Given the description of an element on the screen output the (x, y) to click on. 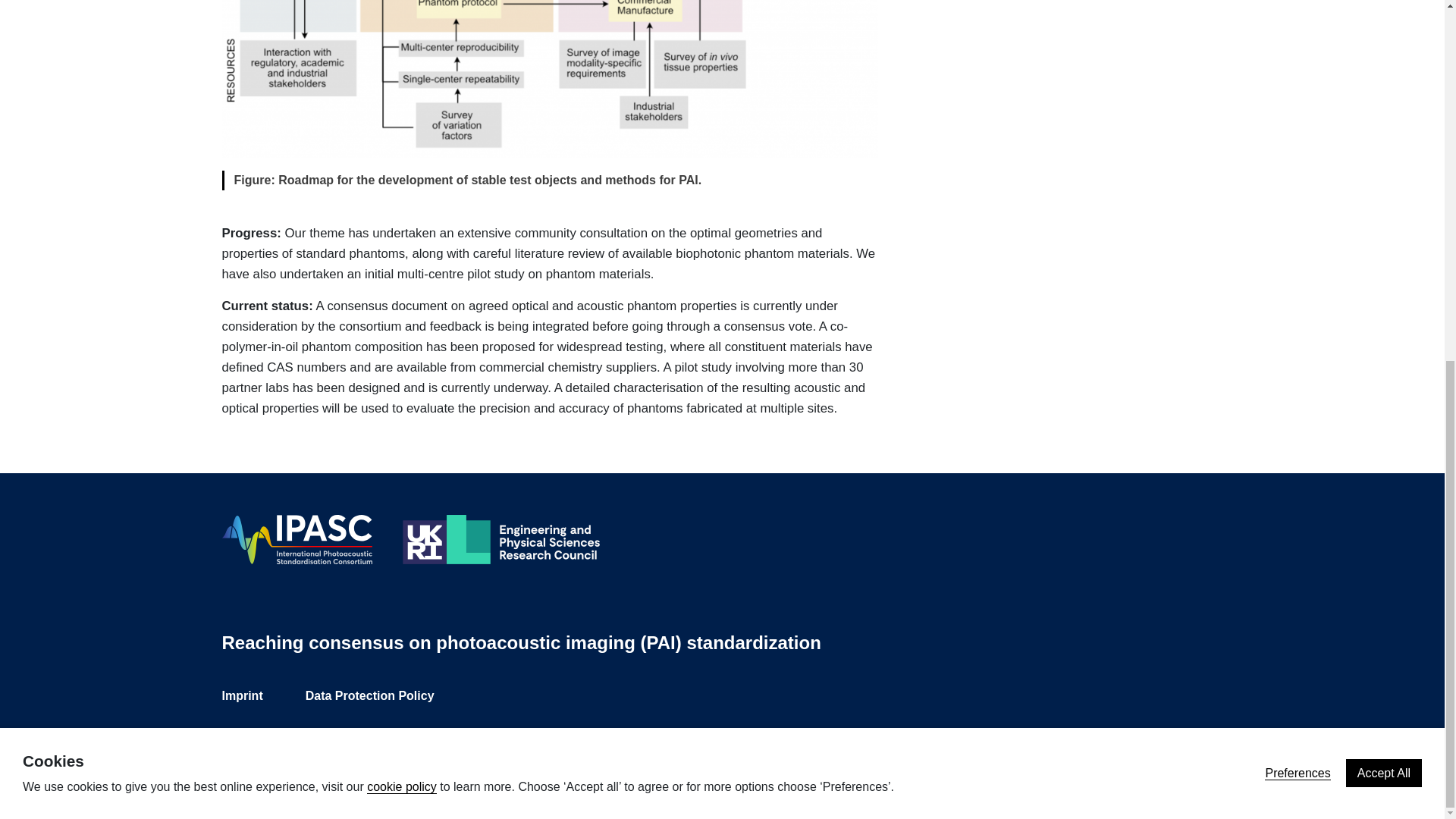
Preferences (1297, 132)
Accept All (1383, 131)
cookie policy (401, 146)
Web Design by Chameleon Studios (1126, 755)
Data Protection Policy (369, 695)
Imprint (241, 695)
